Given the description of an element on the screen output the (x, y) to click on. 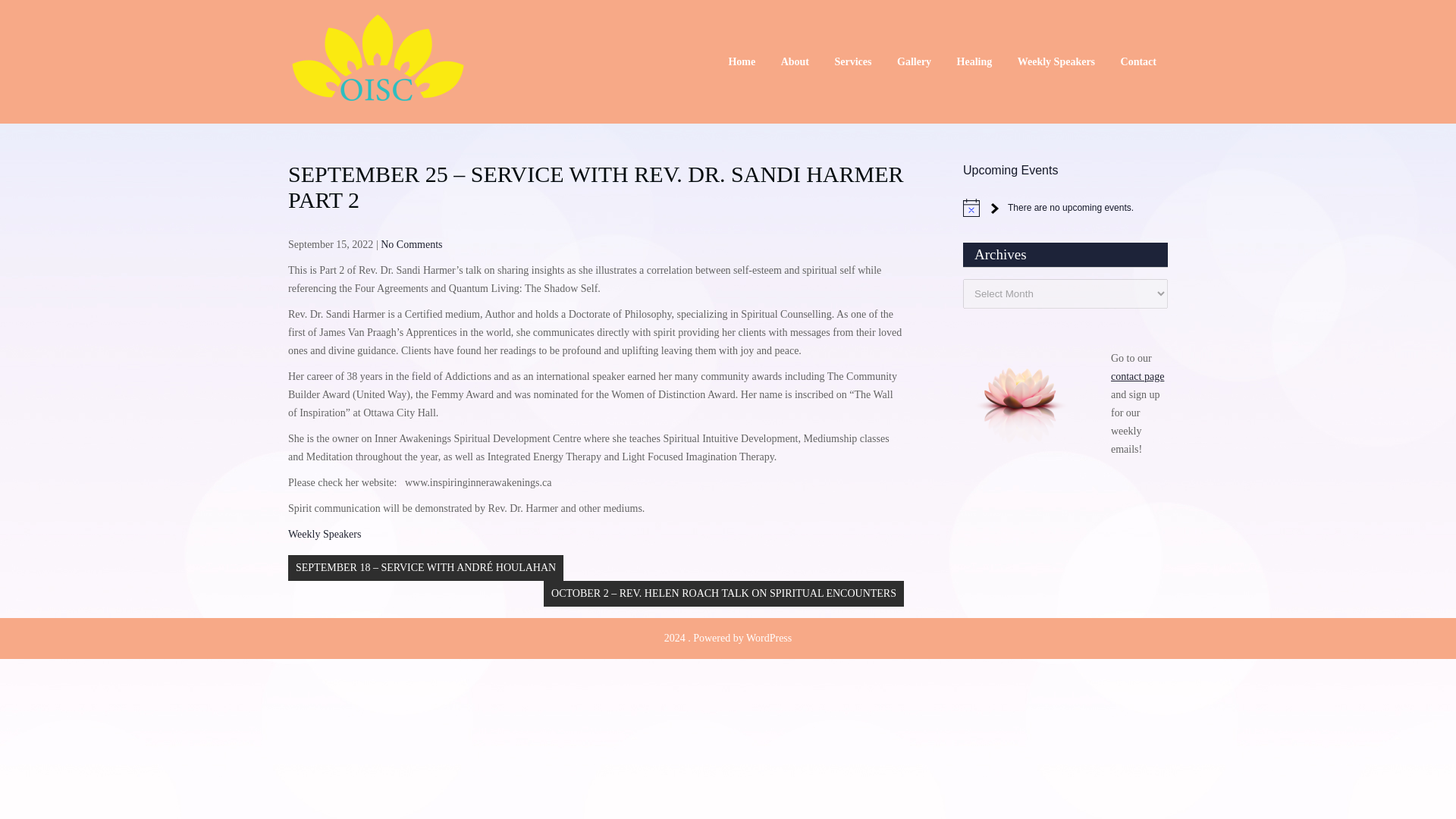
About (795, 61)
Weekly Speakers (1056, 61)
No Comments (411, 244)
contact page (1136, 376)
Weekly Speakers (324, 533)
Home (741, 61)
Gallery (913, 61)
Healing (974, 61)
2024 . Powered by WordPress (727, 637)
Contact (1138, 61)
